Given the description of an element on the screen output the (x, y) to click on. 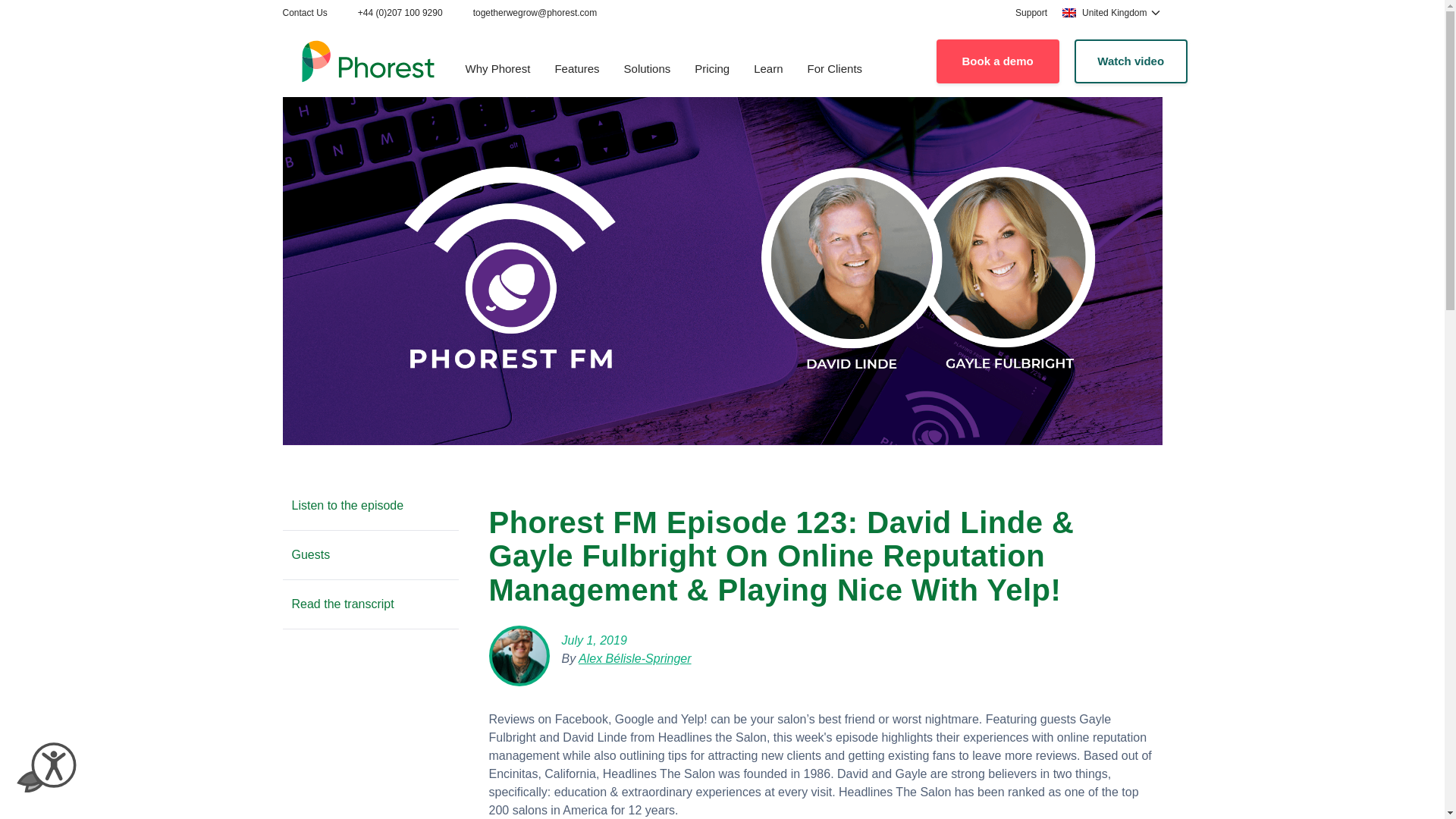
Support (1030, 12)
Contact Us (304, 12)
Features (576, 69)
Why Phorest (497, 69)
